Given the description of an element on the screen output the (x, y) to click on. 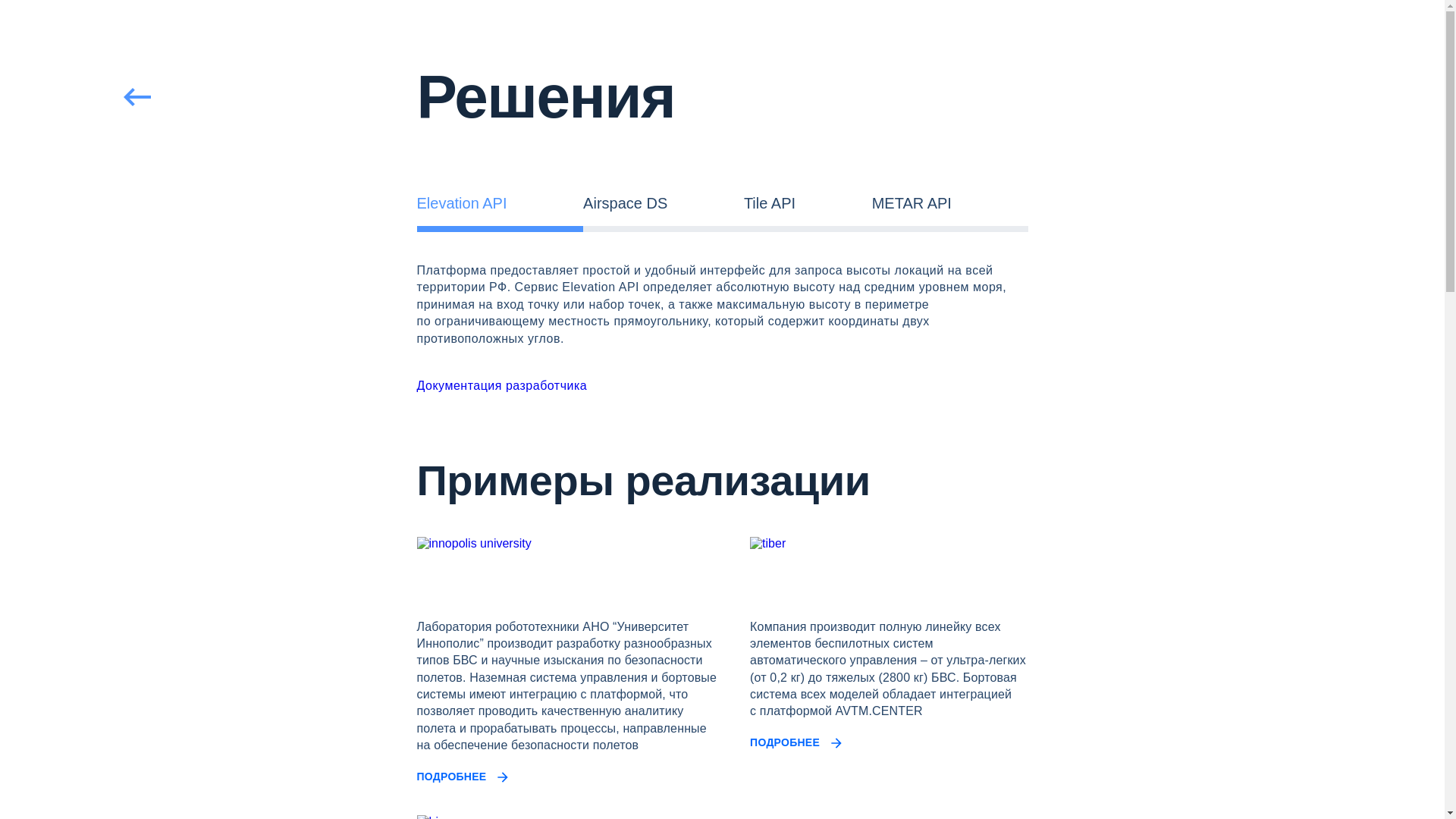
Tile API Element type: text (807, 203)
Elevation API Element type: text (500, 203)
METAR API Element type: text (950, 203)
Airspace DS Element type: text (663, 203)
